Given the description of an element on the screen output the (x, y) to click on. 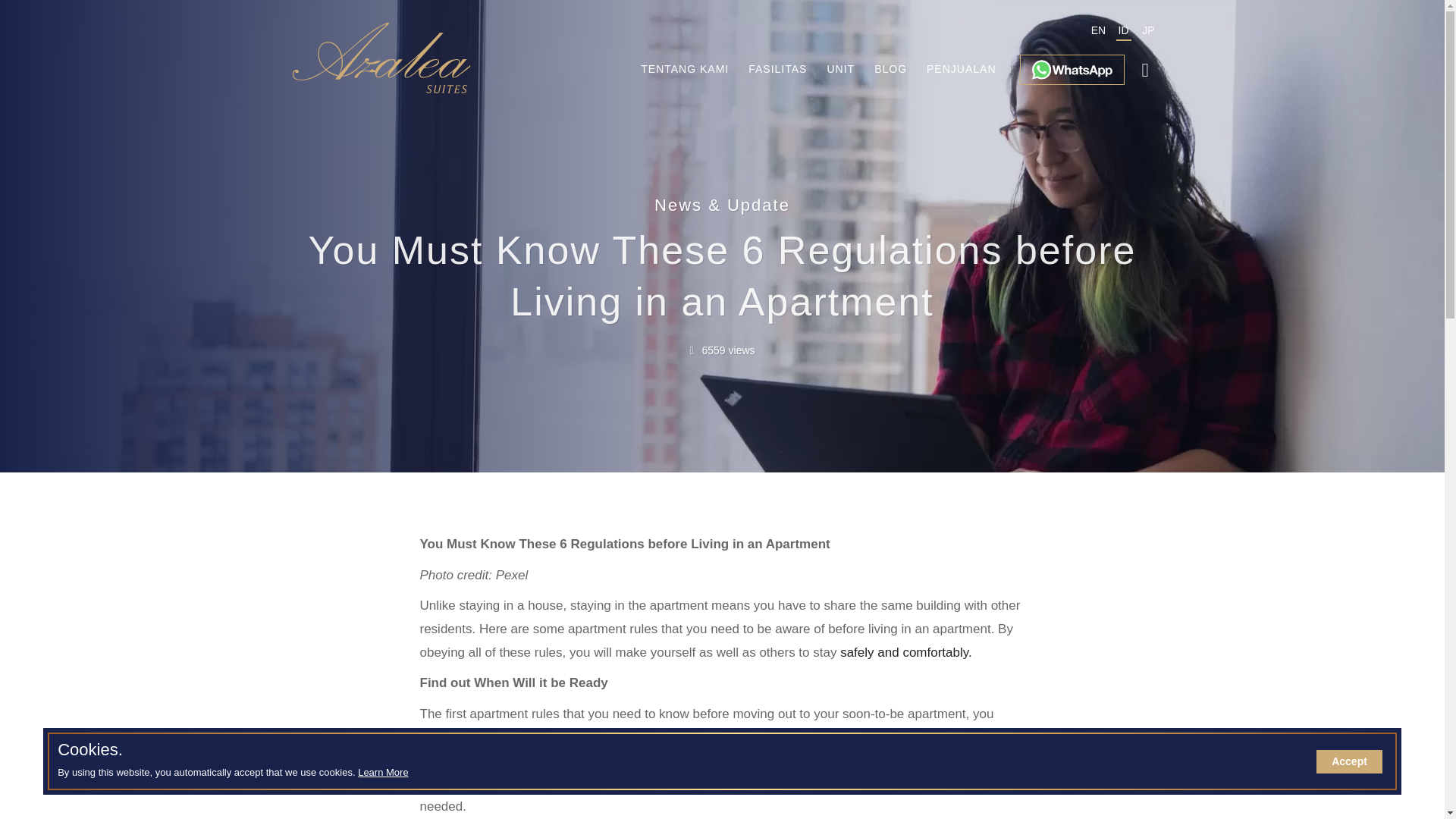
TENTANG KAMI (684, 58)
FASILITAS (777, 58)
PENJUALAN (960, 58)
EN (1098, 32)
ID (1122, 32)
UNIT (840, 58)
JP (1148, 32)
BLOG (889, 58)
safely and comfortably. (906, 652)
